Given the description of an element on the screen output the (x, y) to click on. 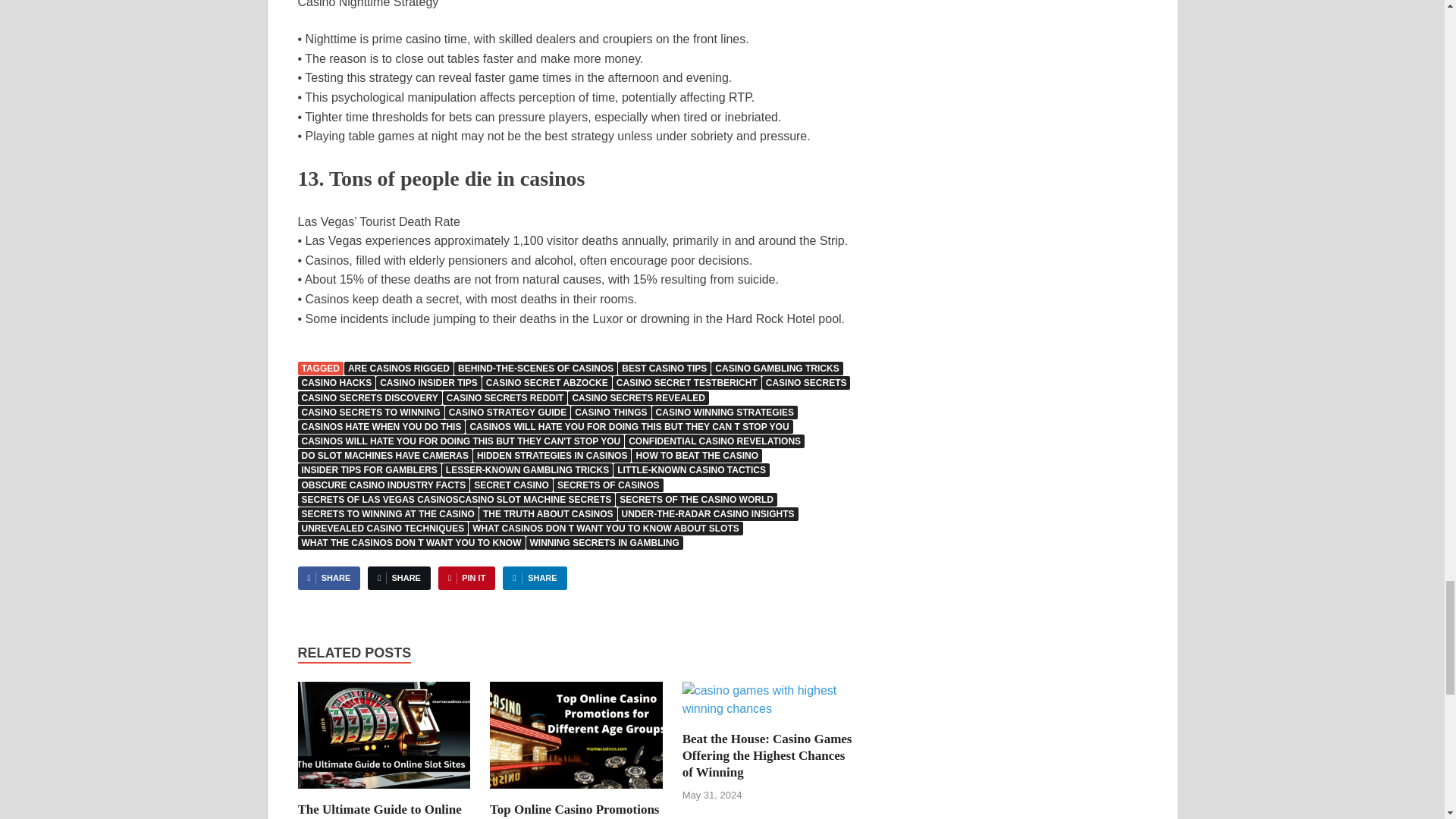
Top Online Casino Promotions for Different Age Groups (575, 739)
Top Online Casino Promotions for Different Age Groups (574, 810)
